Given the description of an element on the screen output the (x, y) to click on. 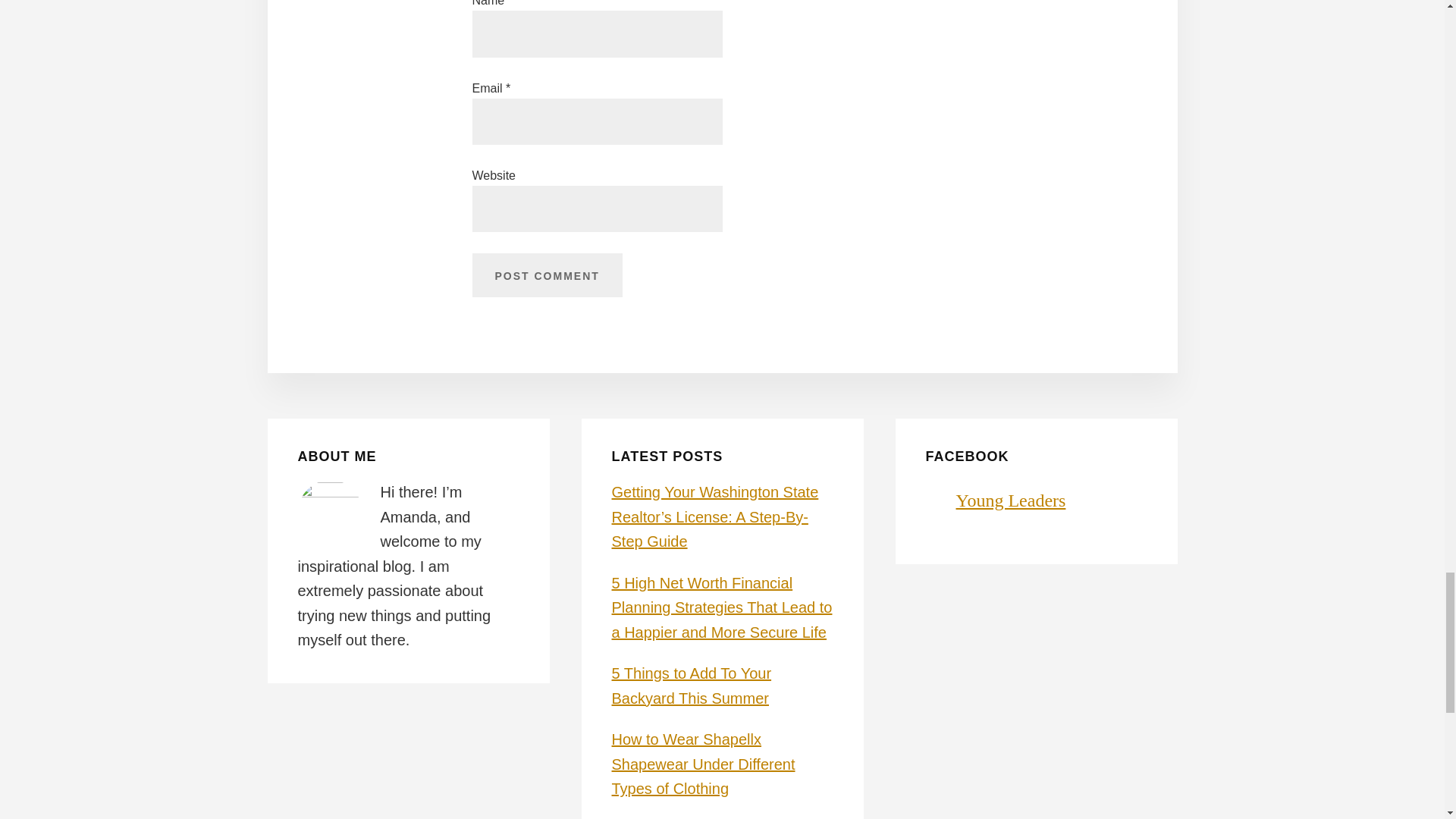
5 Things to Add To Your Backyard This Summer (691, 685)
Young Leaders (1010, 500)
Post Comment (546, 275)
Post Comment (546, 275)
